Given the description of an element on the screen output the (x, y) to click on. 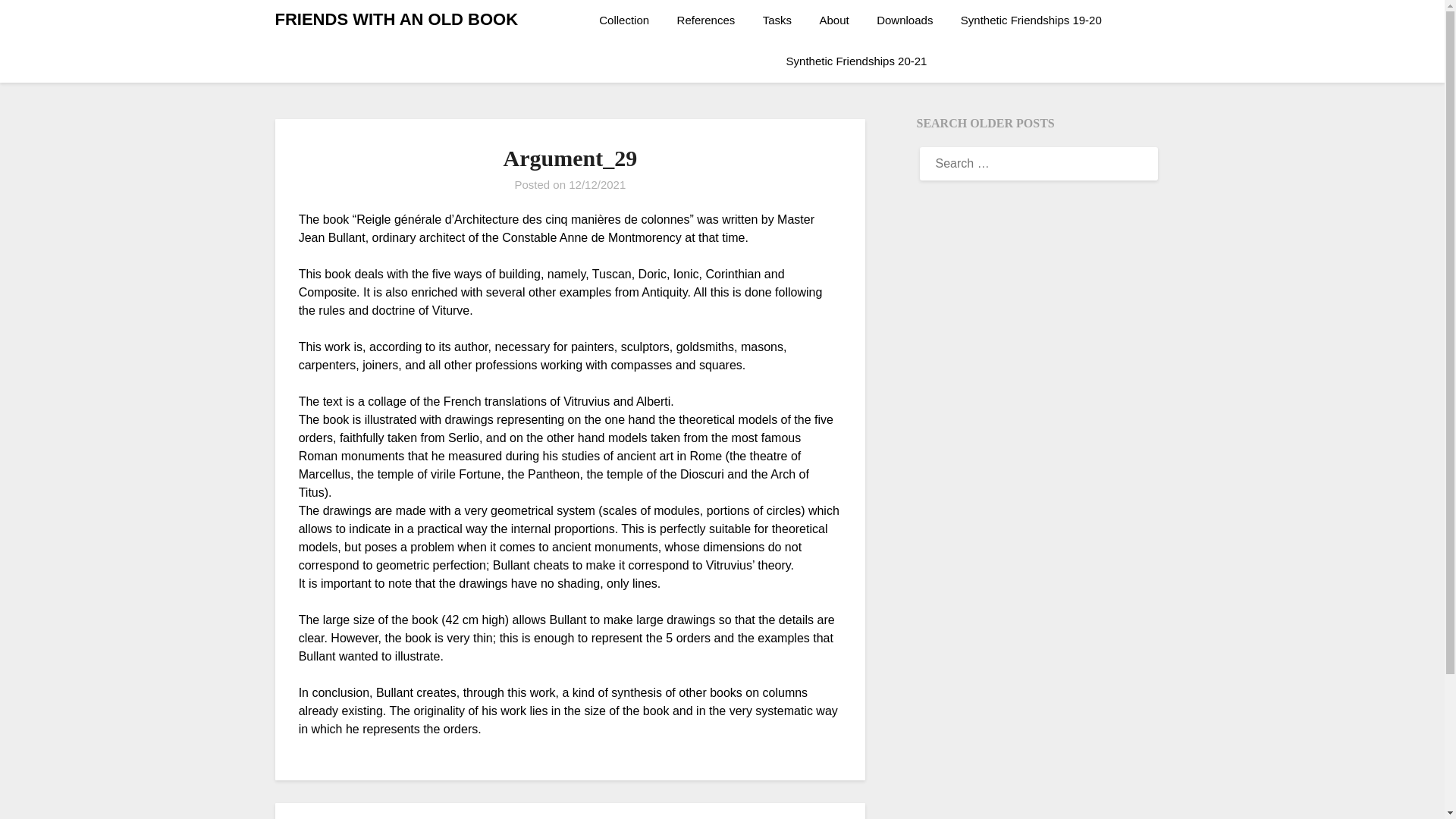
Collection (629, 20)
Tasks (777, 20)
Synthetic Friendships 20-21 (856, 60)
FRIENDS WITH AN OLD BOOK (396, 19)
About (834, 20)
Synthetic Friendships 19-20 (1031, 20)
Downloads (904, 20)
References (706, 20)
Search (38, 22)
